Given the description of an element on the screen output the (x, y) to click on. 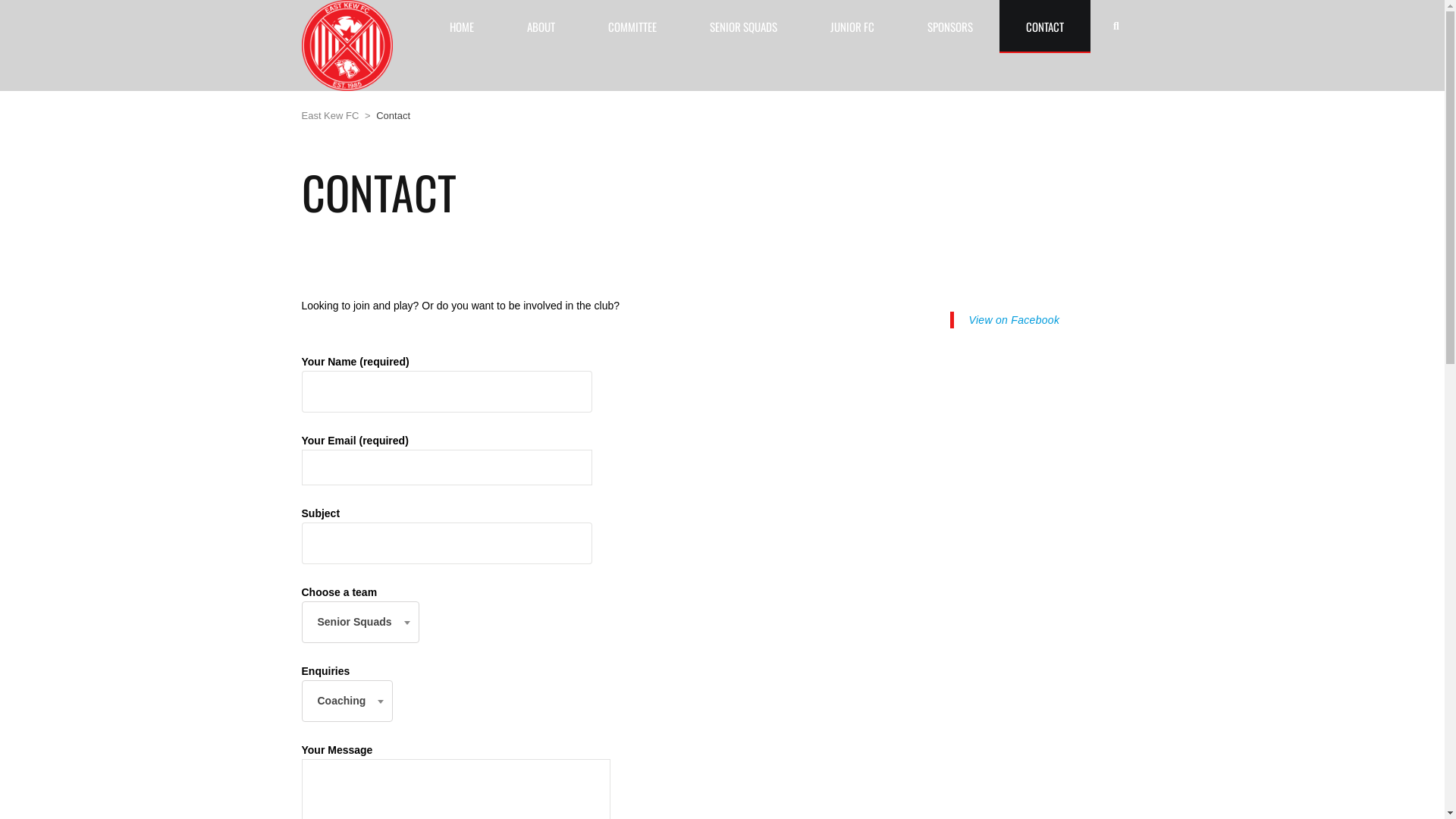
HOME Element type: text (461, 26)
COMMITTEE Element type: text (631, 26)
View on Facebook Element type: text (1014, 319)
ABOUT Element type: text (540, 26)
CONTACT Element type: text (1044, 26)
SENIOR SQUADS Element type: text (742, 26)
JUNIOR FC Element type: text (851, 26)
East Kew FC Element type: text (330, 115)
info@eastkew.com.au Element type: text (673, 548)
Home Element type: hover (346, 45)
SPONSORS Element type: text (949, 26)
